Given the description of an element on the screen output the (x, y) to click on. 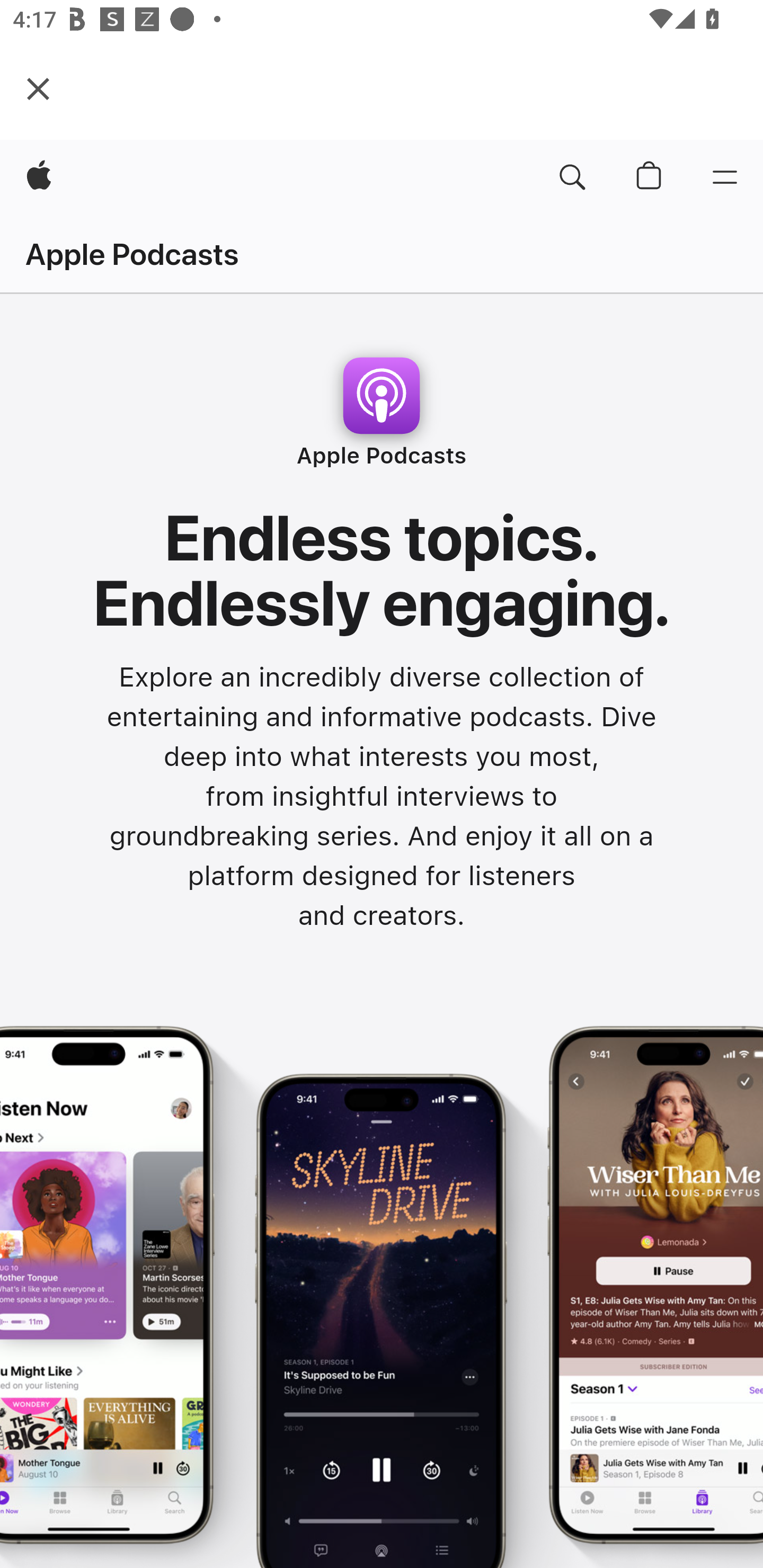
Close (38, 88)
Apple (38, 177)
Search apple.com (572, 177)
Shopping Bag (648, 177)
Menu (724, 177)
Apple Podcasts (132, 253)
